Given the description of an element on the screen output the (x, y) to click on. 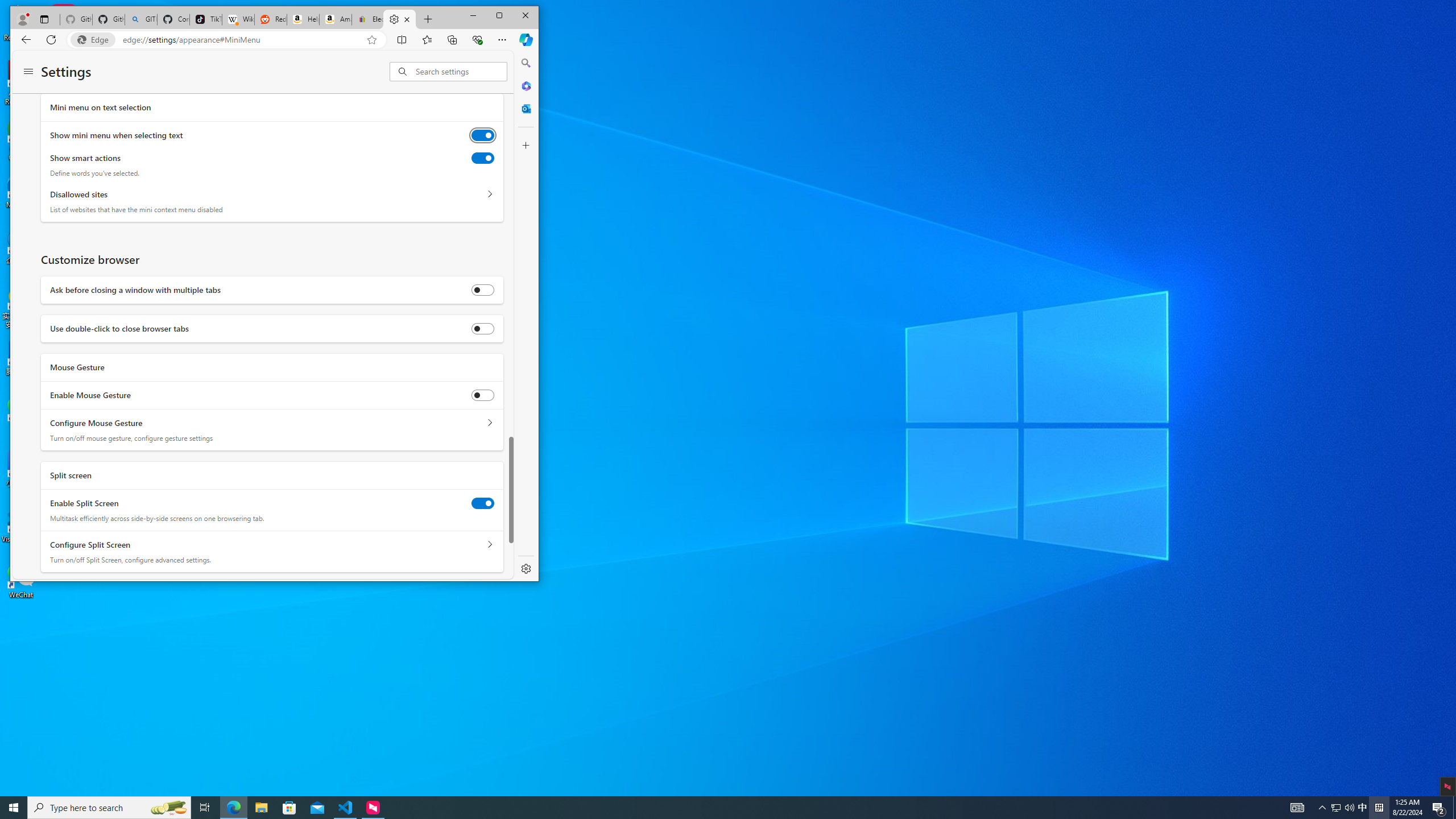
Task View (204, 807)
Disallowed sites (489, 194)
Configure Mouse Gesture (489, 422)
Help & Contact Us - Amazon Customer Service (303, 19)
Show desktop (1454, 807)
Show mini menu when selecting text (482, 134)
File Explorer (261, 807)
Running applications (707, 807)
